Given the description of an element on the screen output the (x, y) to click on. 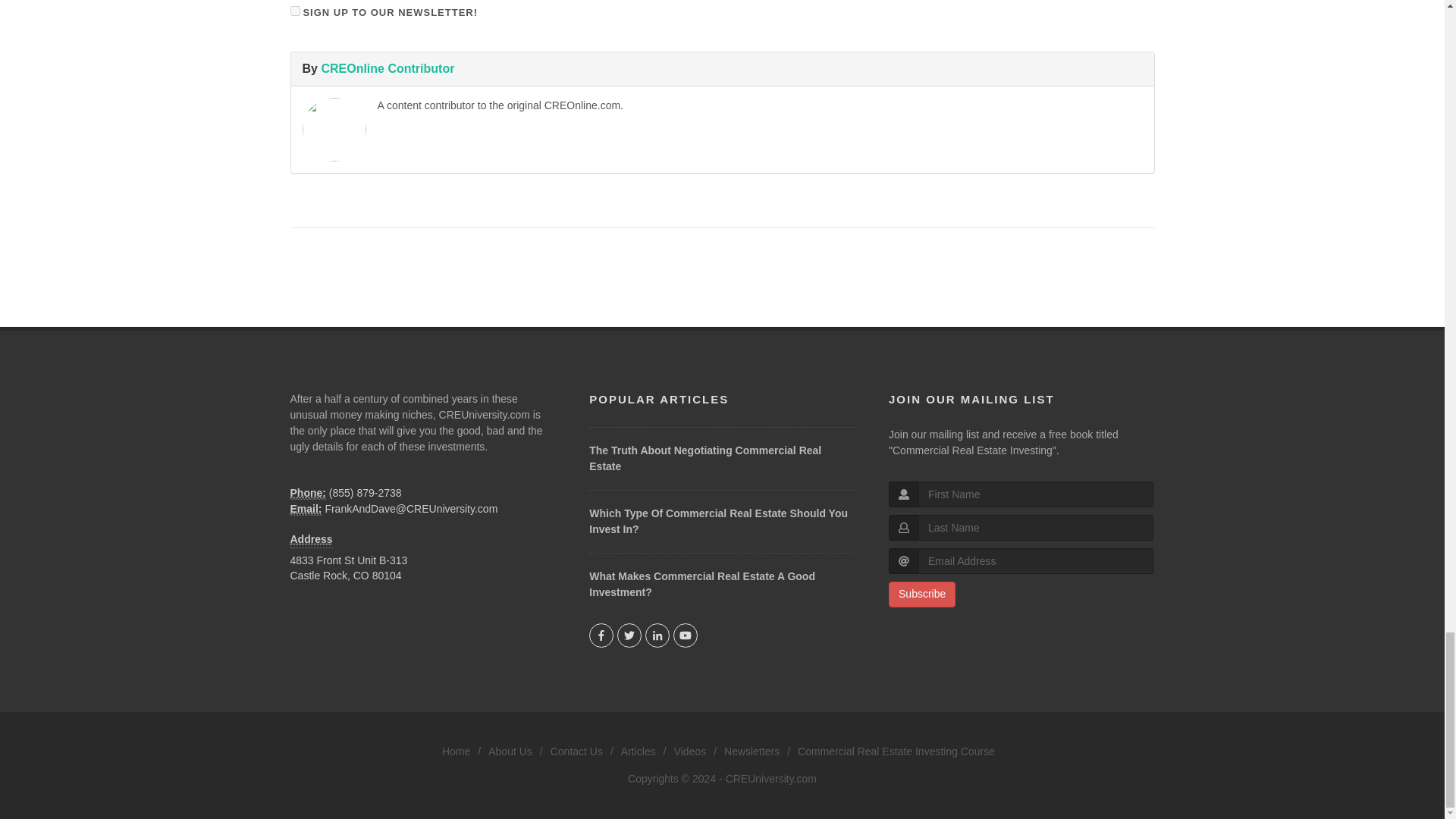
Which Type Of Commercial Real Estate Should You Invest In? (718, 520)
Subscribe (921, 594)
Newsletters (750, 751)
Articles (638, 751)
1 (294, 10)
Contact Us (576, 751)
About Us (509, 751)
What Makes Commercial Real Estate A Good Investment? (702, 584)
Phone Number (306, 492)
Commercial Real Estate Investing Course (895, 751)
The Truth About Negotiating Commercial Real Estate (705, 458)
Videos (690, 751)
Email Address (305, 508)
Headquarters (310, 531)
Home (456, 751)
